Given the description of an element on the screen output the (x, y) to click on. 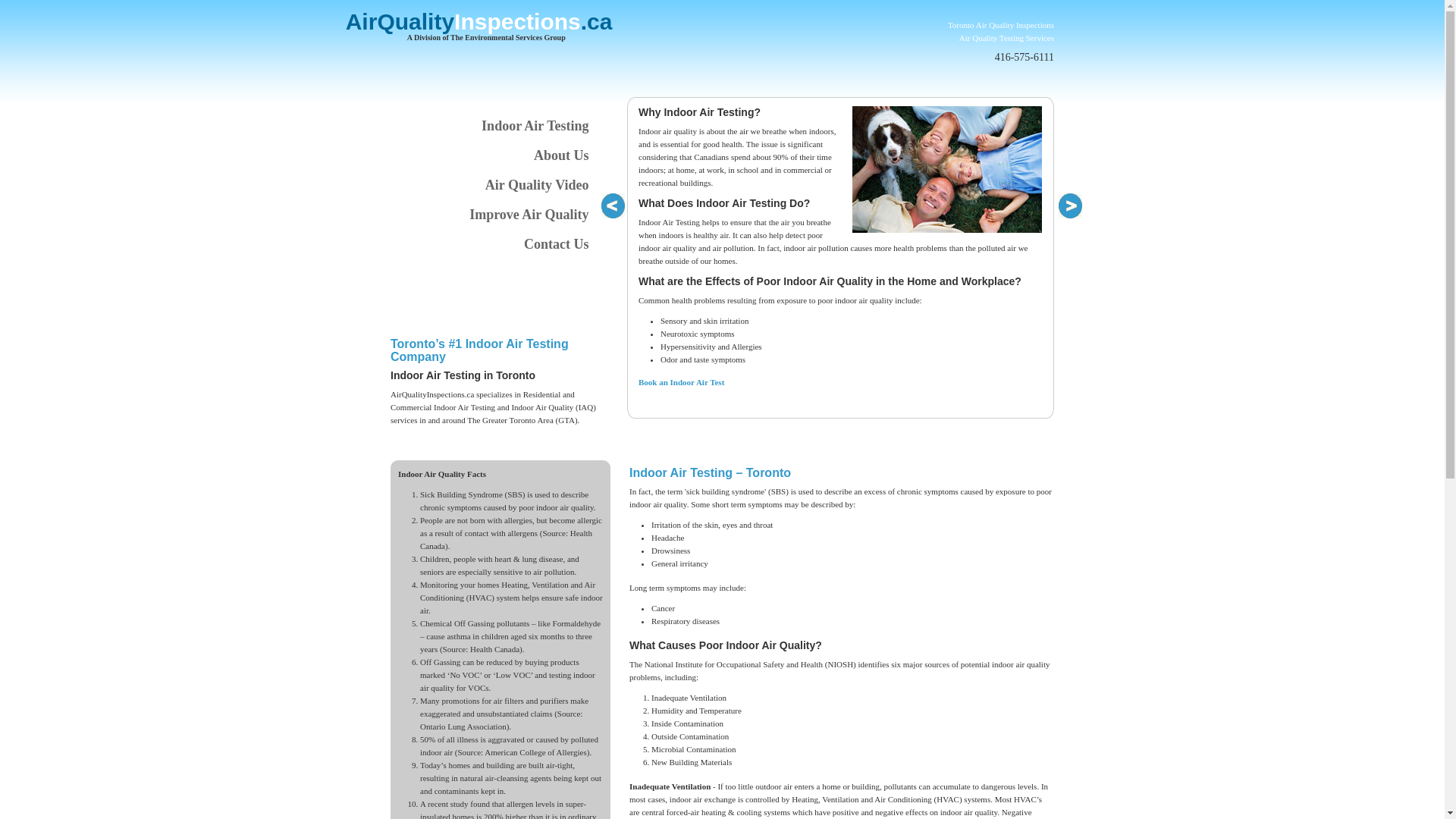
About Us Element type: text (493, 155)
Air Quality Video Element type: text (493, 184)
Contact Us Element type: text (493, 244)
Indoor Air Testing Element type: text (493, 125)
Improve Air Quality Element type: text (493, 214)
Book an Indoor Air Test Element type: text (681, 381)
